Given the description of an element on the screen output the (x, y) to click on. 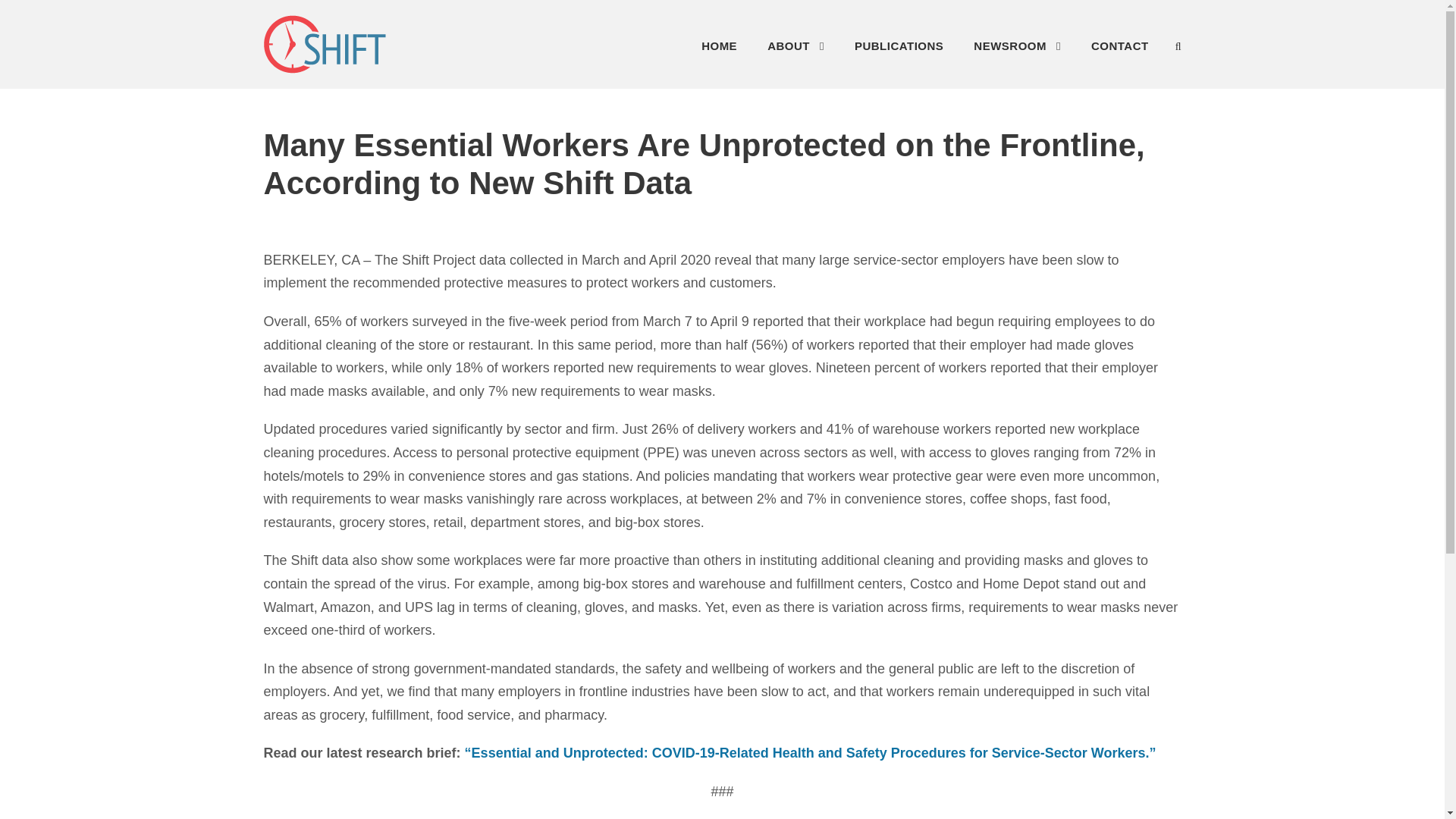
HOME (718, 50)
CONTACT (1119, 50)
ABOUT (795, 50)
PUBLICATIONS (898, 50)
NEWSROOM (1017, 50)
